Given the description of an element on the screen output the (x, y) to click on. 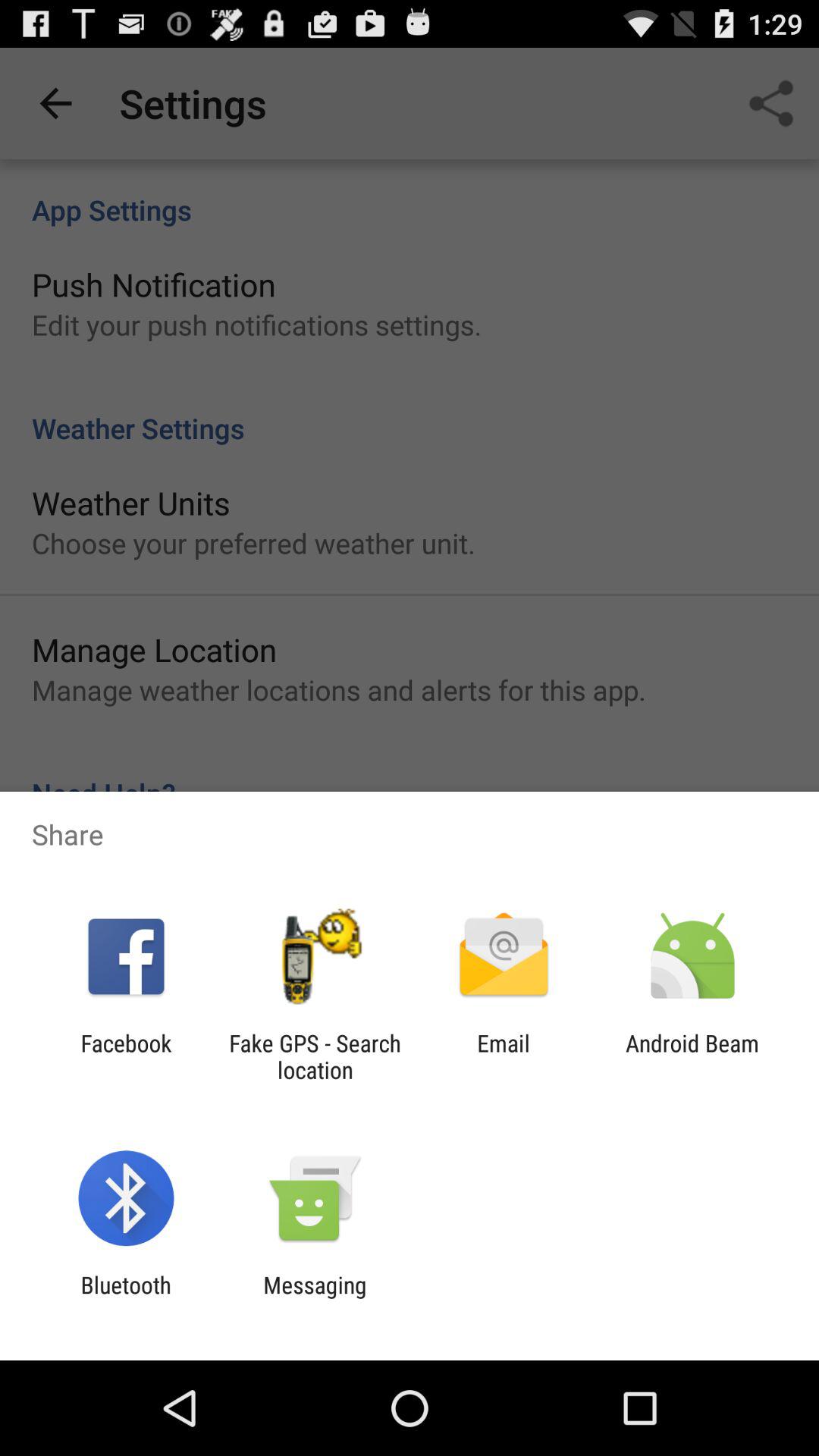
tap the icon next to fake gps search item (125, 1056)
